Given the description of an element on the screen output the (x, y) to click on. 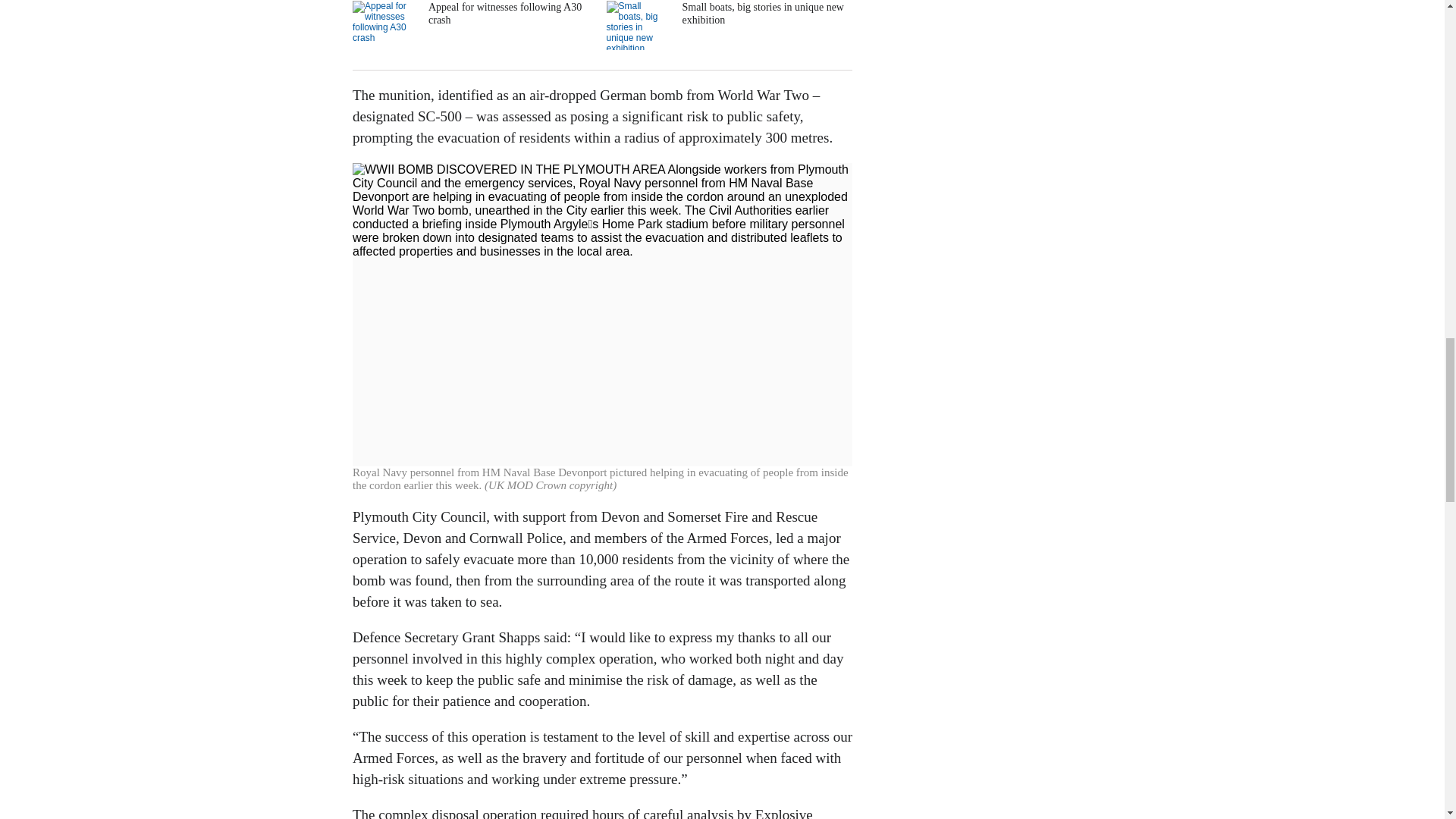
Appeal for witnesses following A30 crash (473, 24)
Small boats, big stories in unique new exhibition (727, 24)
